Given the description of an element on the screen output the (x, y) to click on. 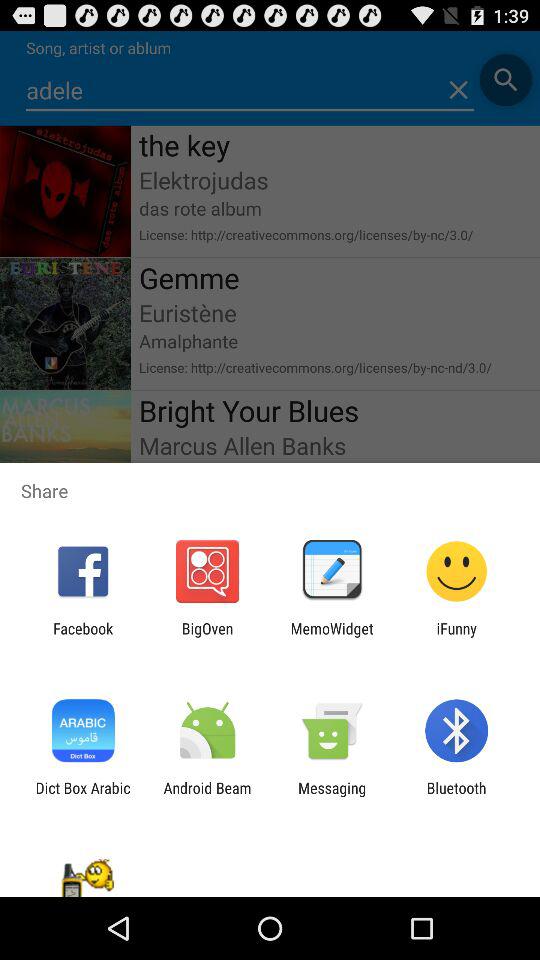
click the bluetooth app (456, 796)
